Given the description of an element on the screen output the (x, y) to click on. 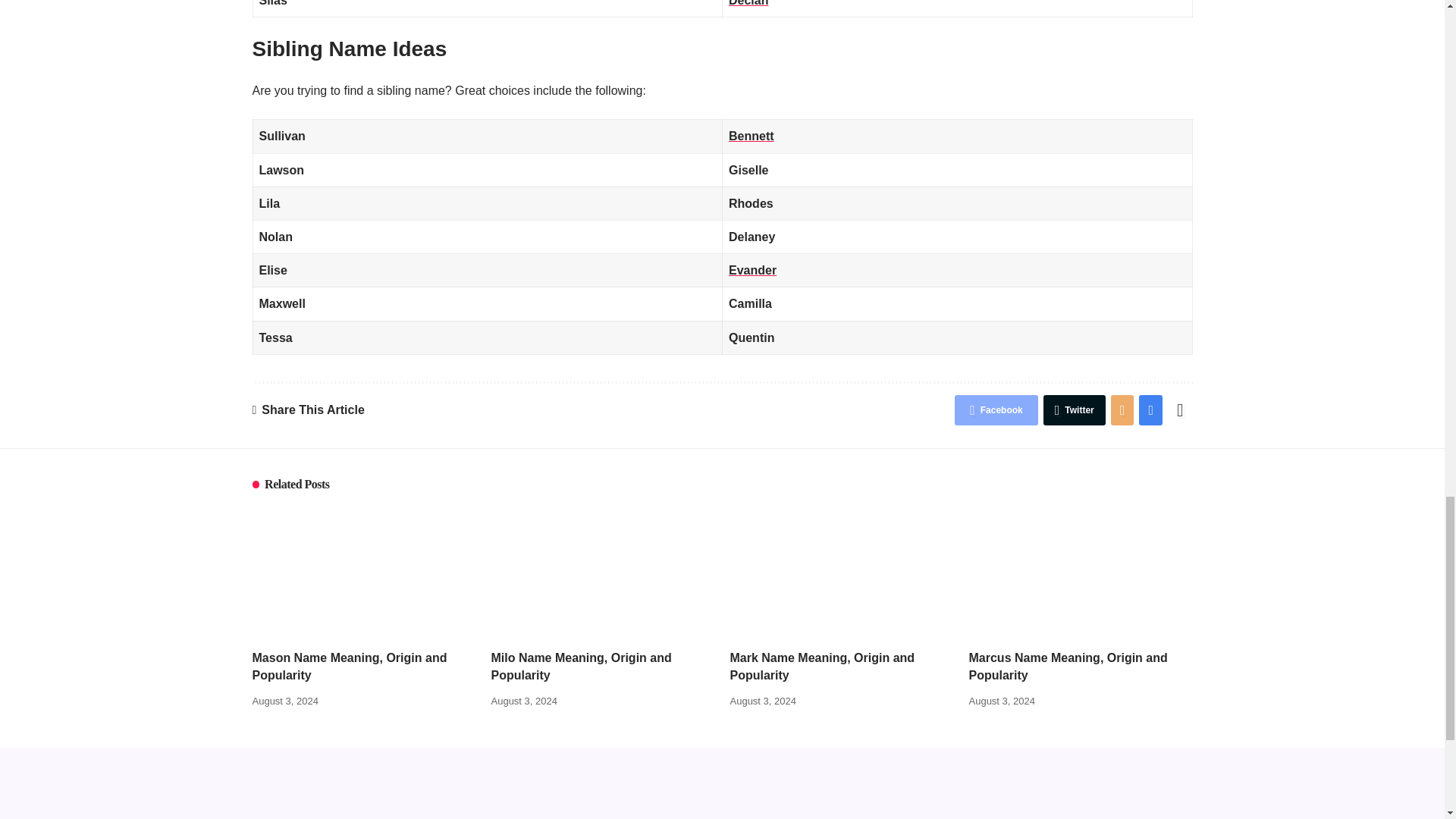
Mark Name Meaning, Origin and Popularity (841, 572)
Marcus Name Meaning, Origin and Popularity (1080, 572)
Mason Name Meaning, Origin and Popularity (363, 572)
Milo Name Meaning, Origin and Popularity (603, 572)
